Given the description of an element on the screen output the (x, y) to click on. 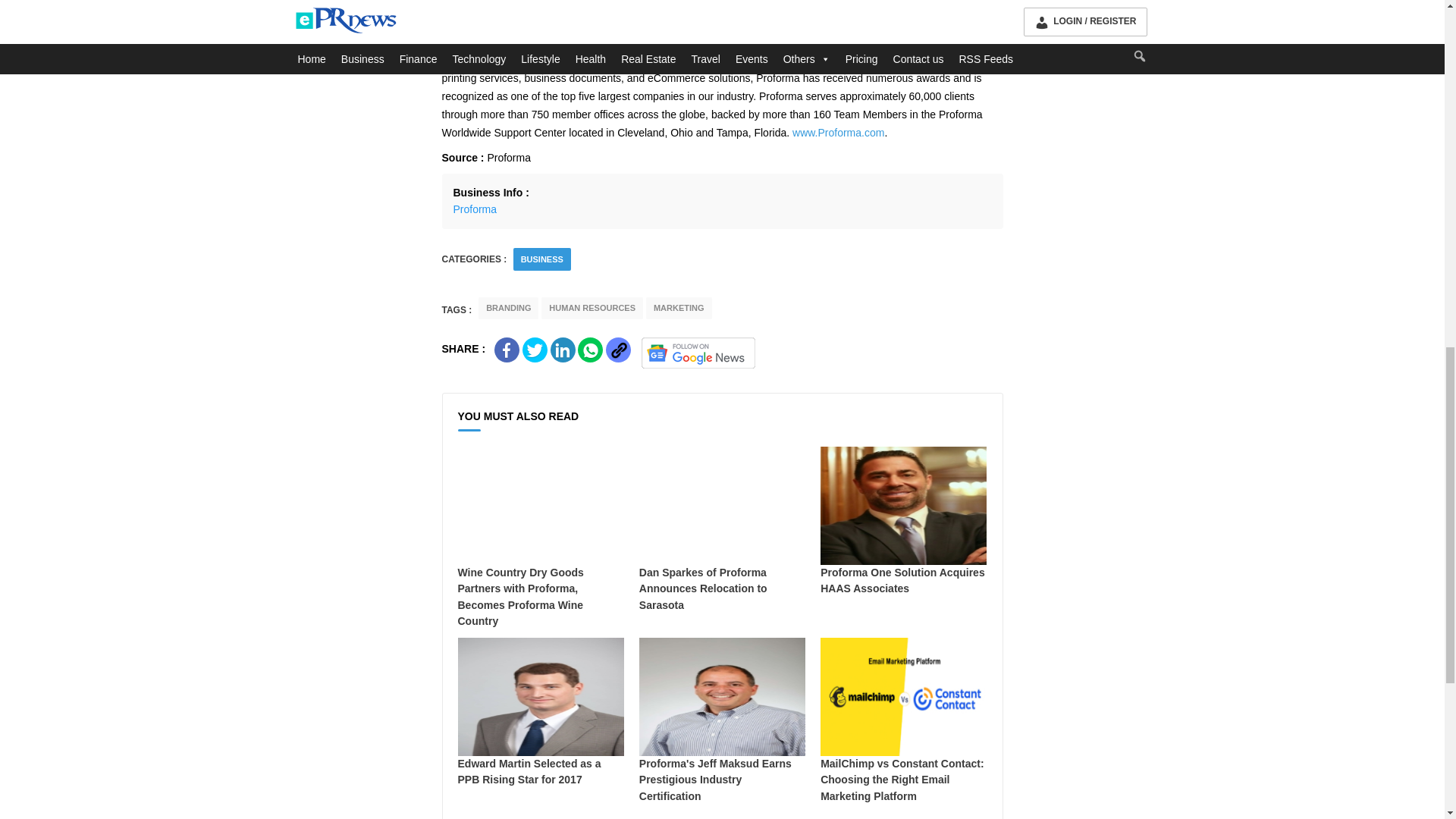
Share on Linkedin (562, 349)
www.Proforma.com (837, 132)
BUSINESS (542, 258)
Share on Twitter (534, 349)
MARKETING (678, 308)
Share on Facebook (507, 349)
Proforma (474, 209)
HUMAN RESOURCES (592, 308)
BRANDING (508, 308)
Share on Whatsapp (590, 349)
Copy Link (617, 349)
